Given the description of an element on the screen output the (x, y) to click on. 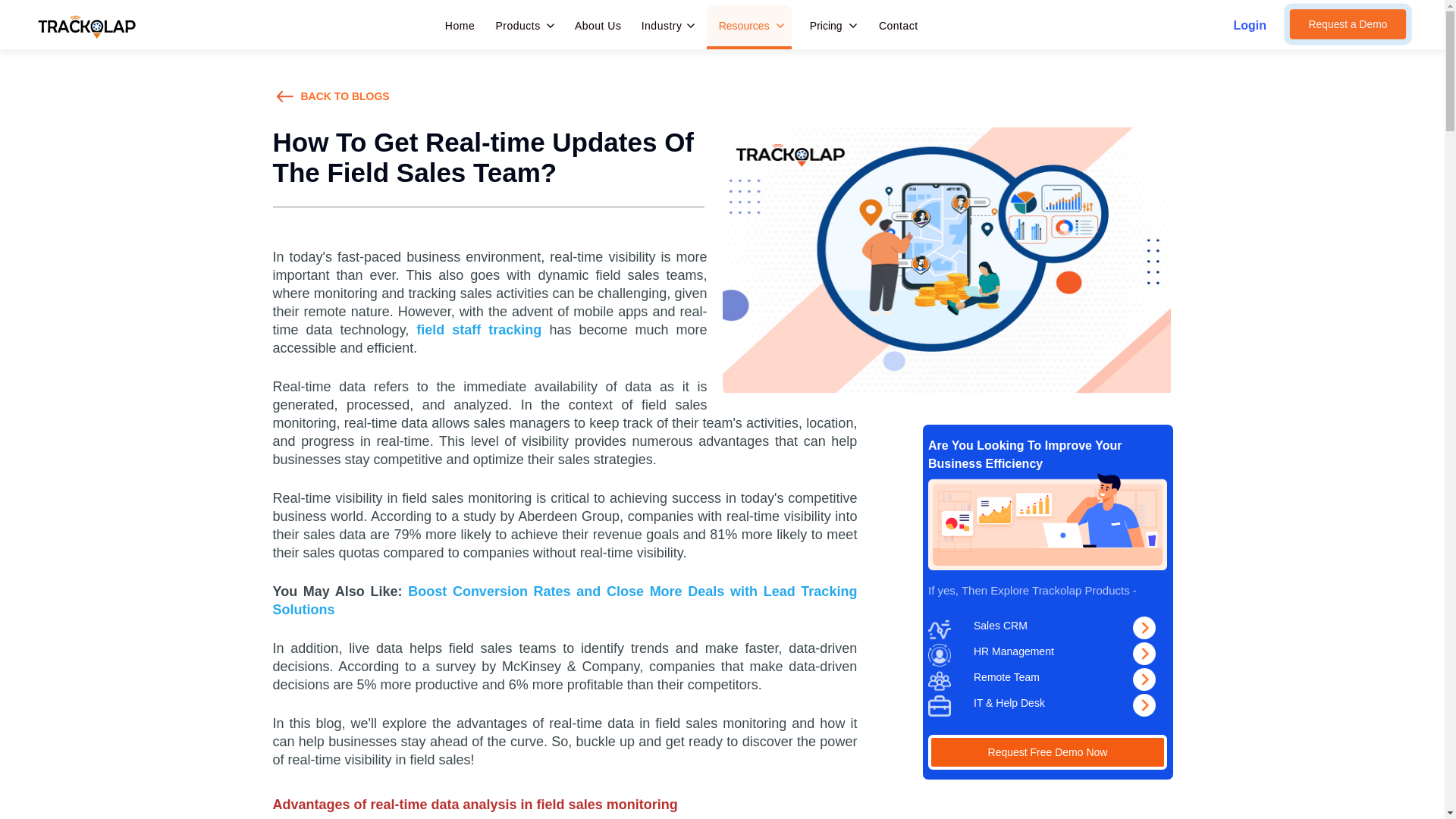
Pricing (826, 25)
Resources (744, 25)
Home (458, 26)
About Us (597, 26)
